Given the description of an element on the screen output the (x, y) to click on. 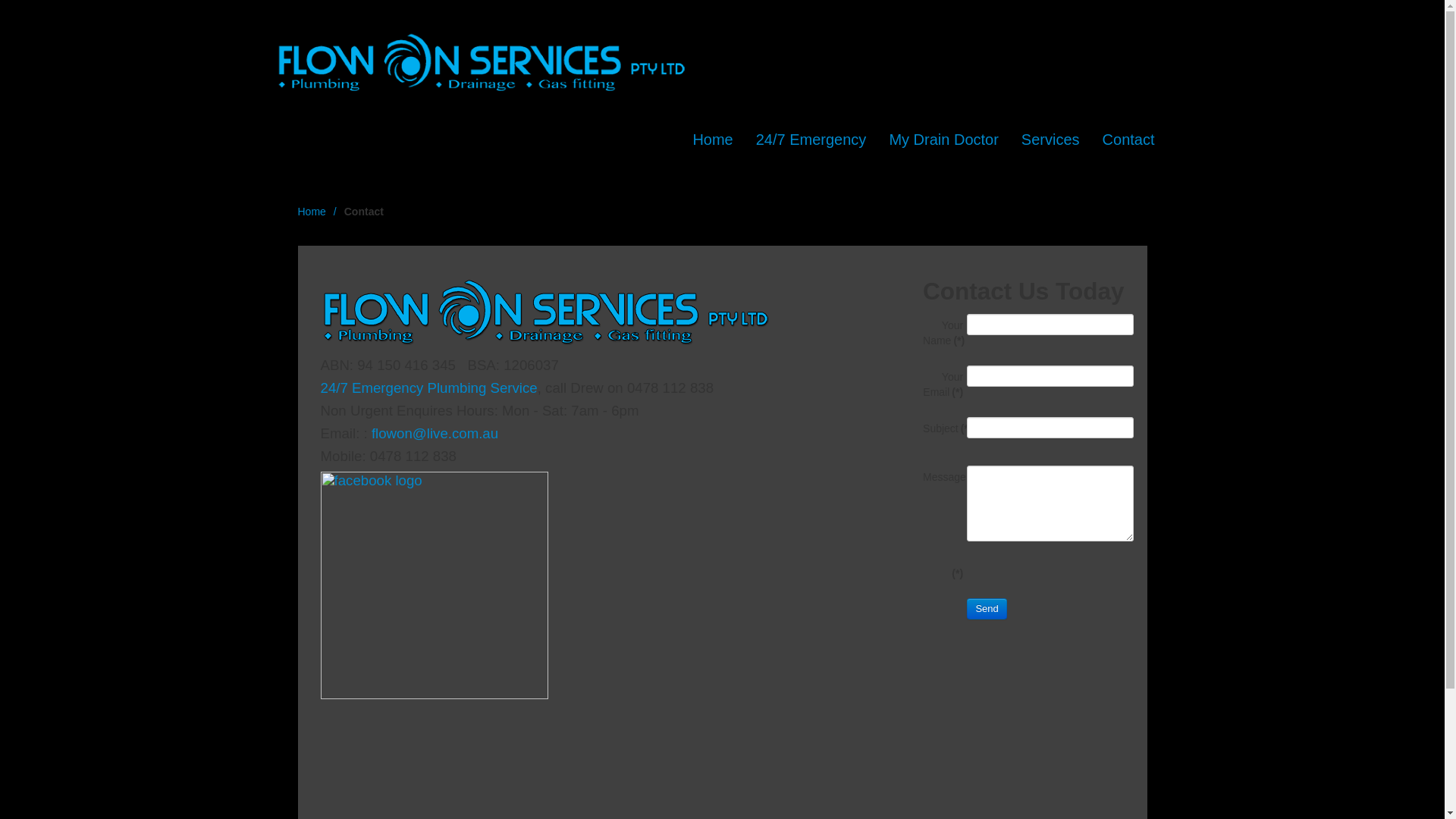
Services Element type: text (1050, 139)
Send Element type: text (986, 608)
Home Element type: text (712, 139)
Contact Element type: text (1128, 139)
24/7 Emergency Element type: text (811, 139)
24/7 Emergency Plumbing Service Element type: text (428, 387)
flowon@live.com.au Element type: text (434, 433)
My Drain Doctor Element type: text (943, 139)
Home Element type: text (316, 211)
